Given the description of an element on the screen output the (x, y) to click on. 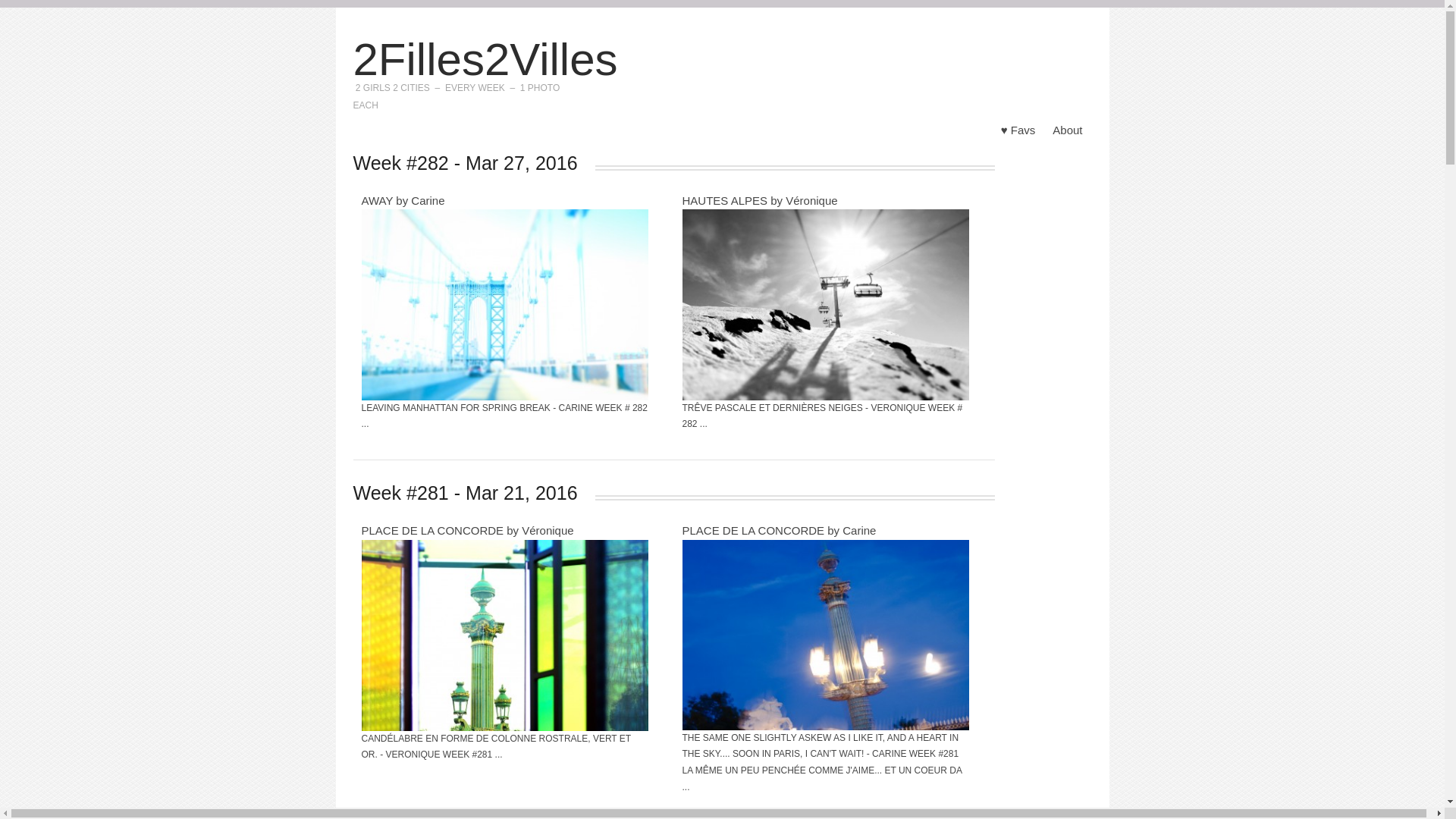
2Filles2Villes Element type: text (485, 59)
About Element type: text (1067, 130)
AWAY by Carine Element type: text (402, 200)
LEAVING MANHATTAN FOR SPRING BREAK - CARINE WEEK # 282 ... Element type: text (503, 415)
PLACE DE LA CONCORDE by Carine Element type: text (779, 530)
